Given the description of an element on the screen output the (x, y) to click on. 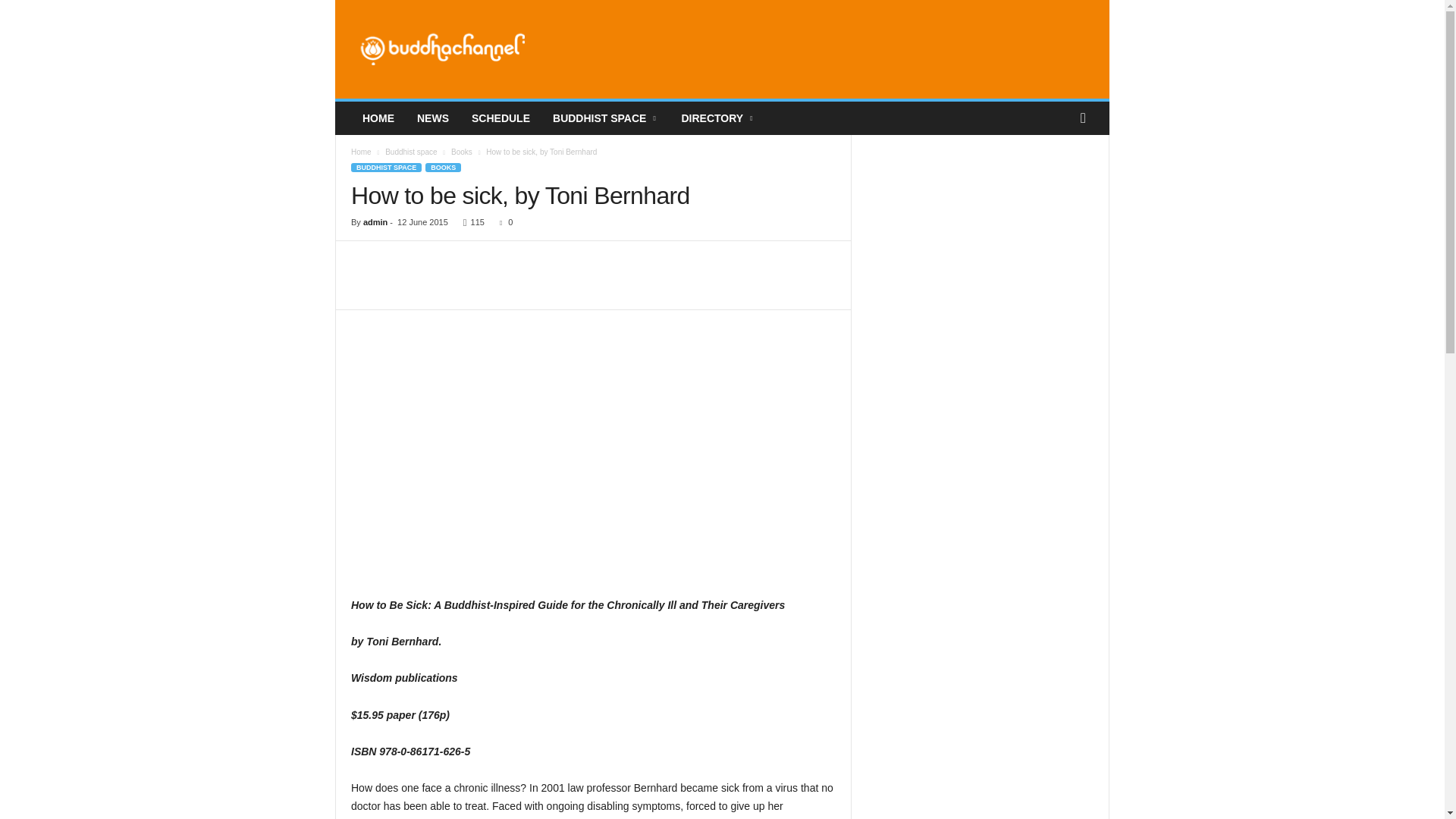
BUDDHIST SPACE (605, 118)
HOME (378, 118)
View all posts in Buddhist space (410, 152)
SCHEDULE (500, 118)
NEWS (433, 118)
View all posts in Books (461, 152)
Buddhachannel TV (442, 48)
